Given the description of an element on the screen output the (x, y) to click on. 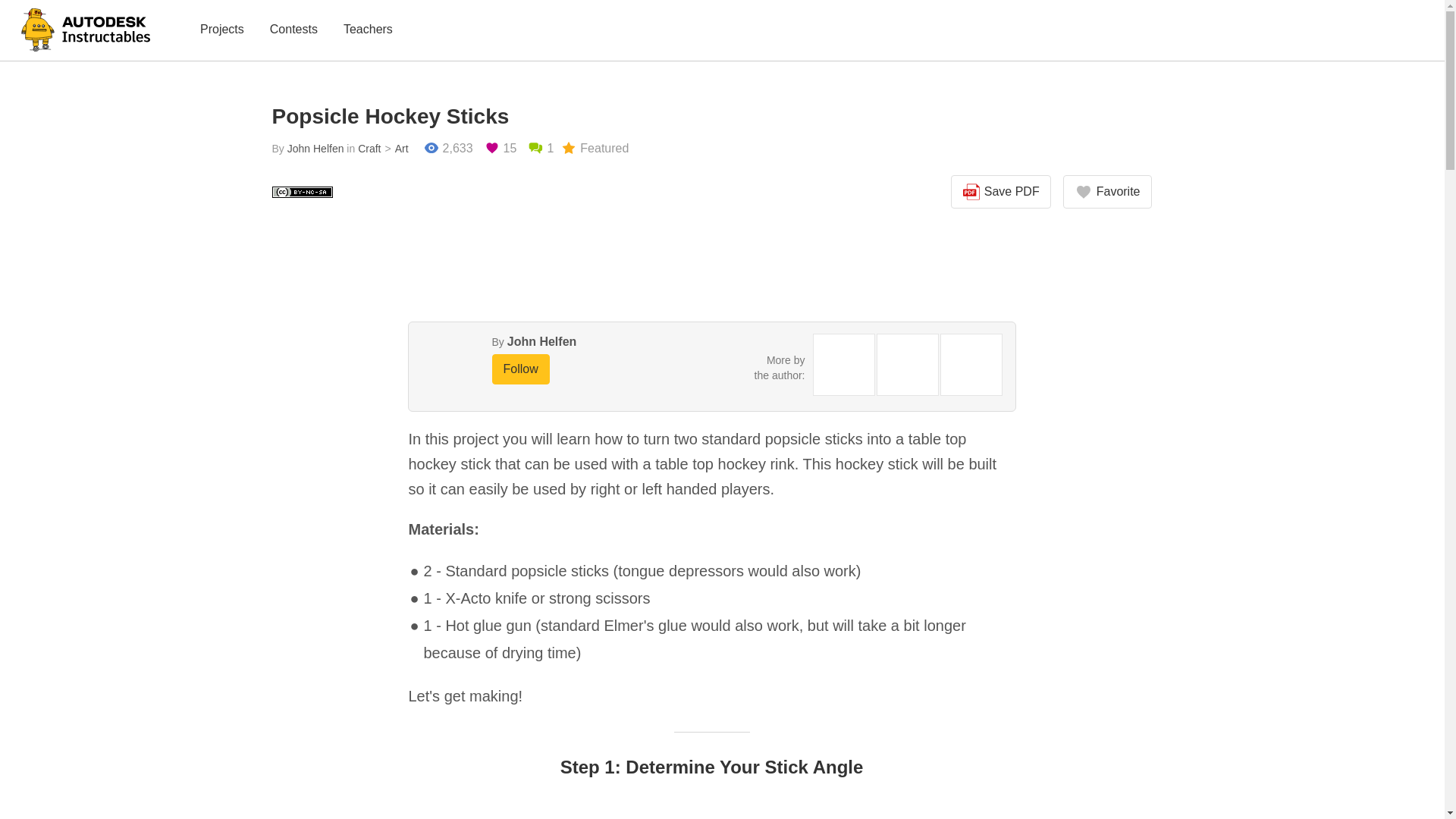
John Helfen (314, 148)
Save PDF (1000, 191)
John Helfen (541, 341)
Follow (520, 368)
More by the author: (779, 366)
Art (393, 148)
Projects (221, 30)
Favorite (1106, 191)
Contests (293, 30)
Craft (369, 148)
1 (540, 148)
Teachers (368, 30)
